Given the description of an element on the screen output the (x, y) to click on. 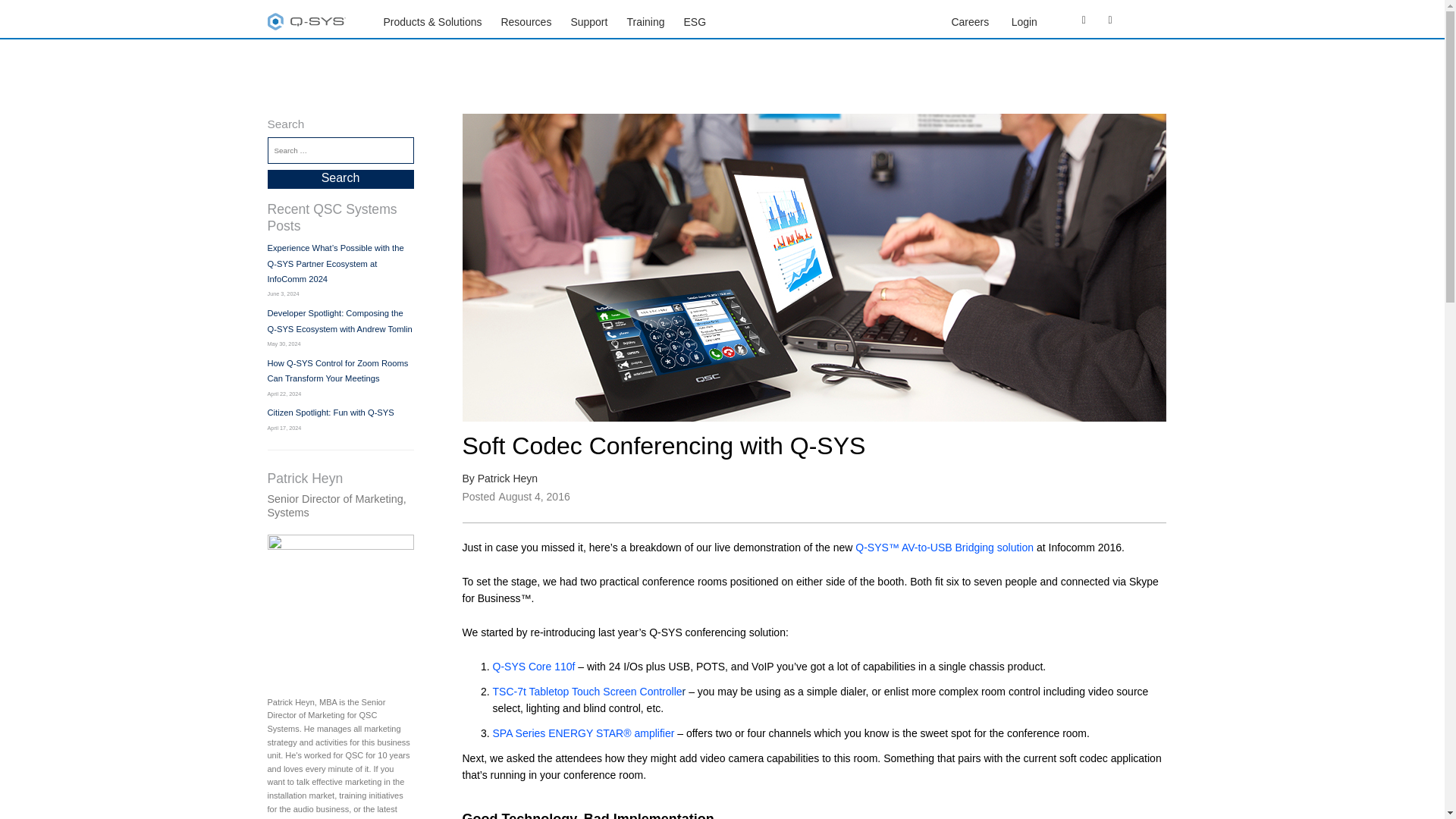
Support (588, 21)
Resources (525, 21)
Search (339, 179)
Q-SYS logo (305, 21)
Q-SYS logo (306, 24)
ESG (695, 21)
Training (644, 21)
Search (339, 179)
